Given the description of an element on the screen output the (x, y) to click on. 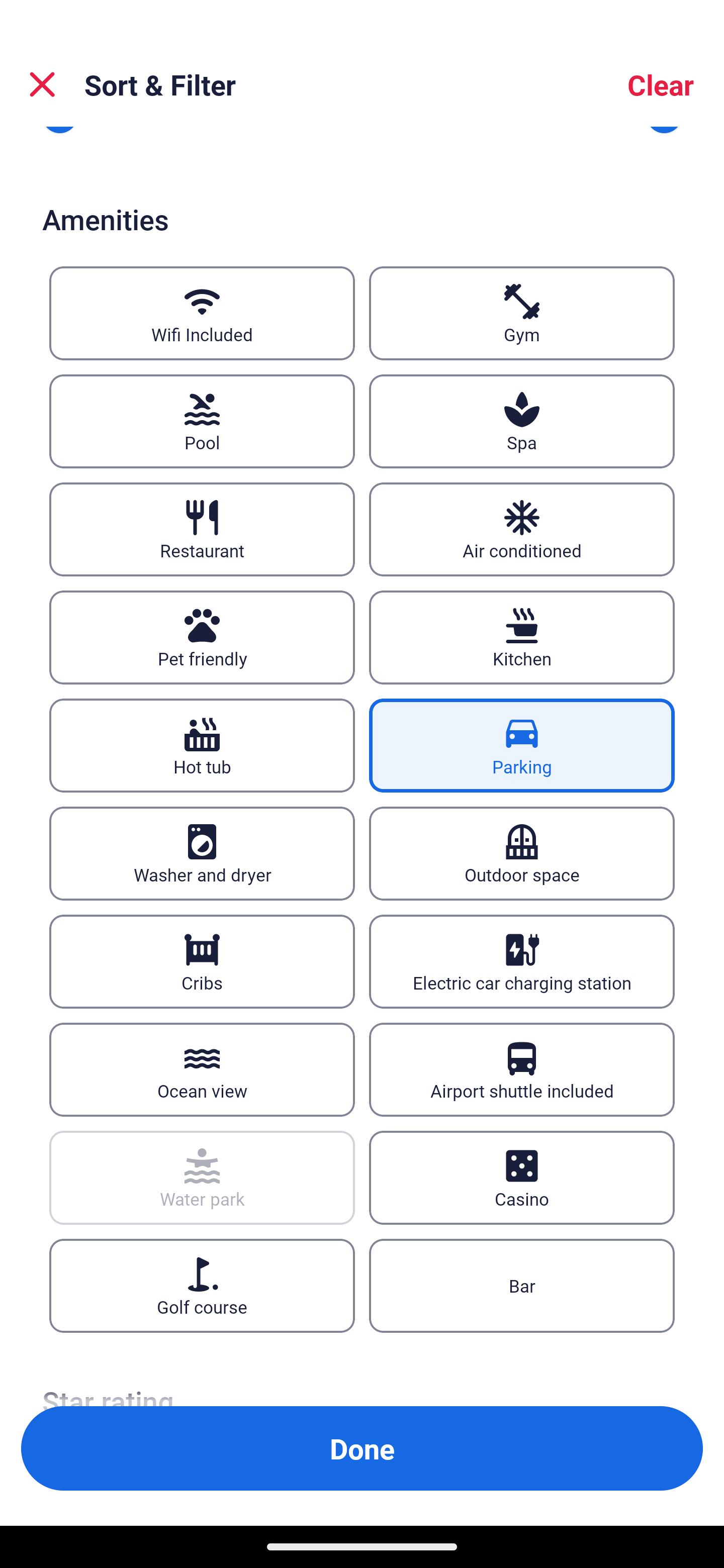
Close Sort and Filter (42, 84)
Clear (660, 84)
Wifi Included (201, 313)
Gym (521, 313)
Pool (201, 421)
Spa (521, 421)
Restaurant (201, 529)
Air conditioned (521, 529)
Pet friendly (201, 638)
Kitchen (521, 638)
Hot tub (201, 745)
Parking (521, 745)
Washer and dryer (201, 852)
Outdoor space (521, 852)
Cribs (201, 961)
Electric car charging station (521, 961)
Ocean view (201, 1069)
Airport shuttle included (521, 1069)
Water park (201, 1177)
Casino (521, 1177)
Golf course (201, 1285)
Bar (521, 1285)
Apply and close Sort and Filter Done (361, 1448)
